Given the description of an element on the screen output the (x, y) to click on. 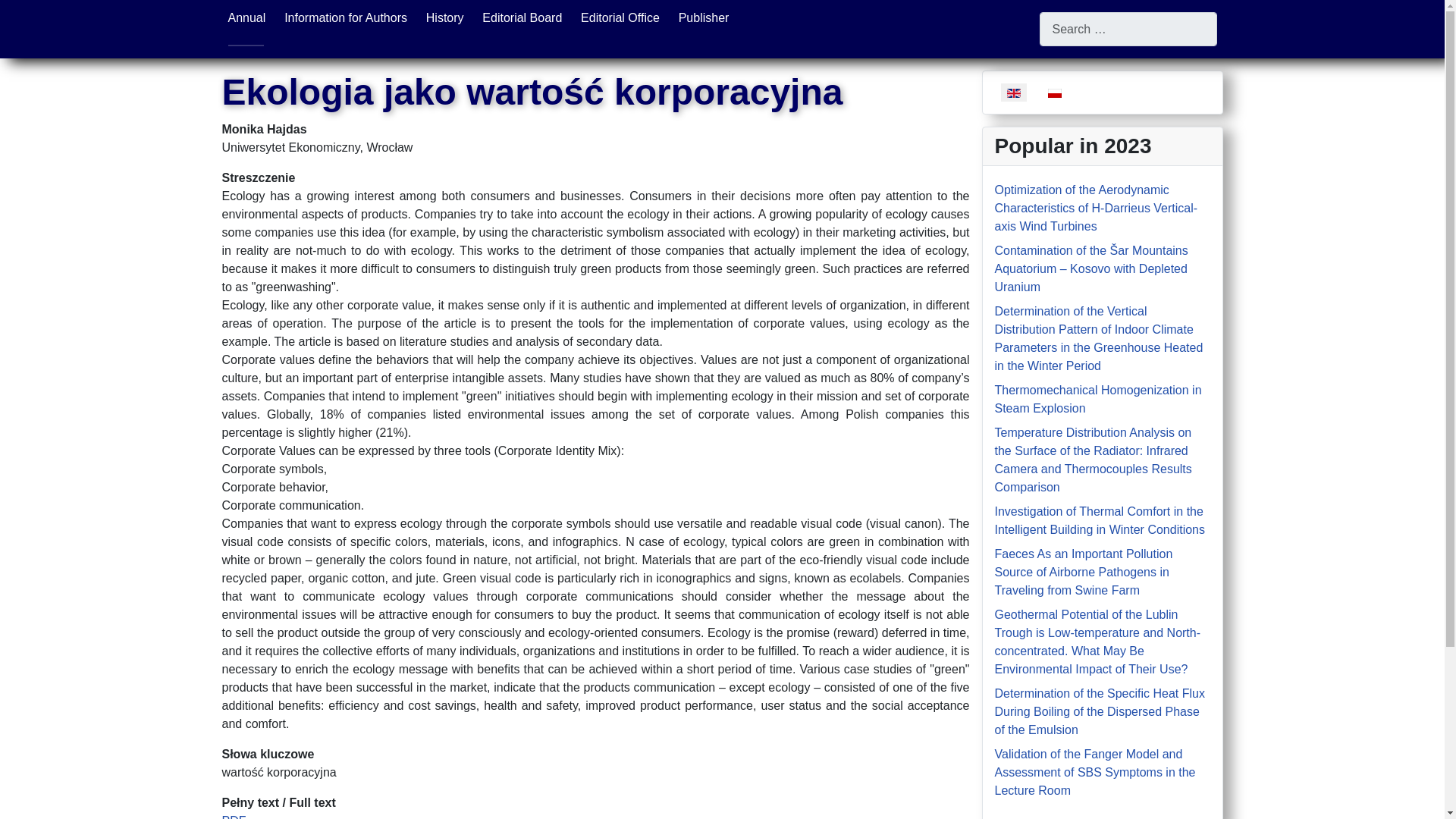
Annual (245, 17)
Publisher (703, 17)
Editorial Board (521, 17)
Information for Authors (345, 17)
Annual (245, 17)
